Given the description of an element on the screen output the (x, y) to click on. 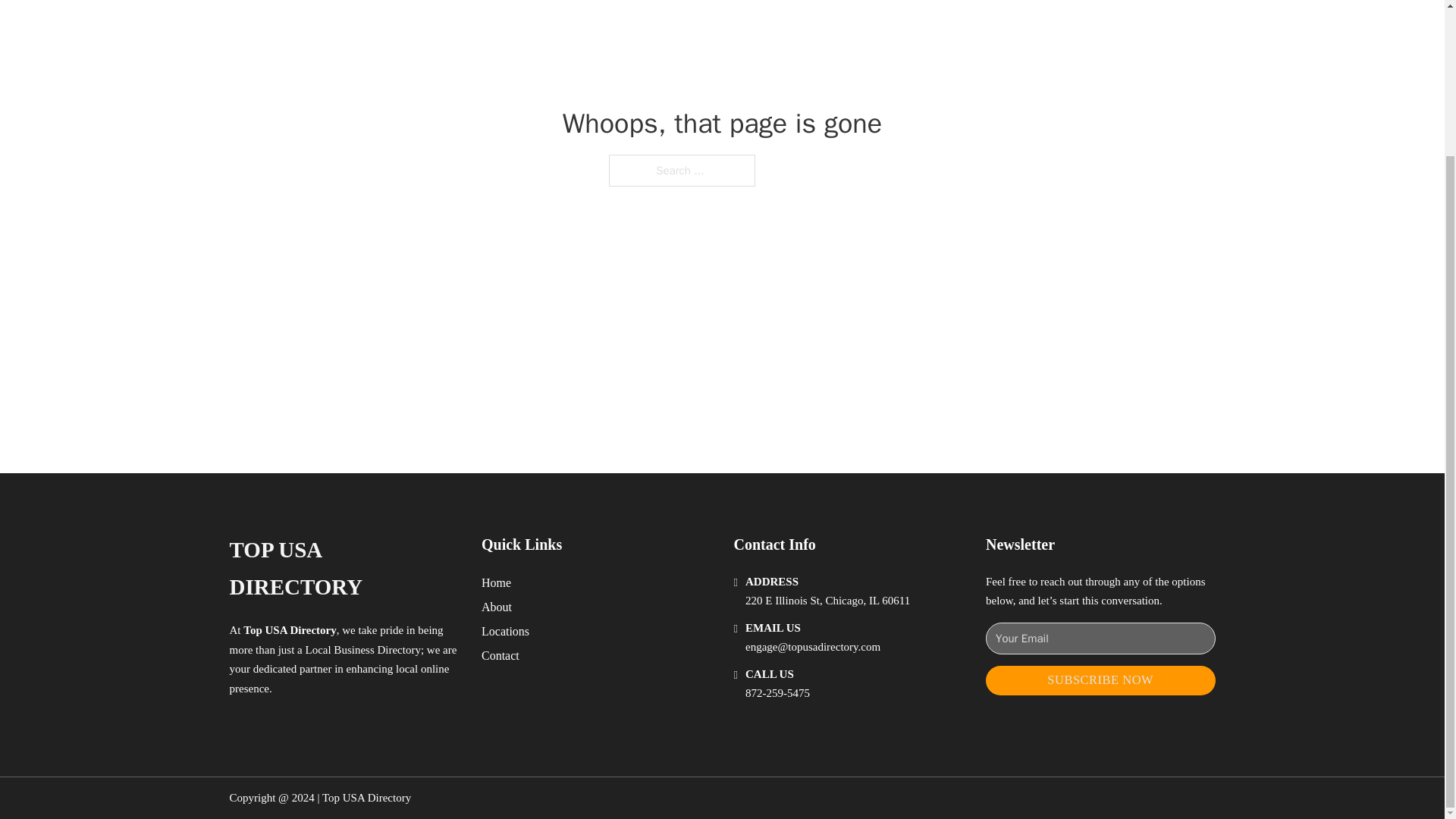
TOP USA DIRECTORY (343, 568)
Locations (505, 630)
Contact (500, 655)
872-259-5475 (777, 693)
SUBSCRIBE NOW (1100, 680)
Home (496, 582)
About (496, 607)
